Given the description of an element on the screen output the (x, y) to click on. 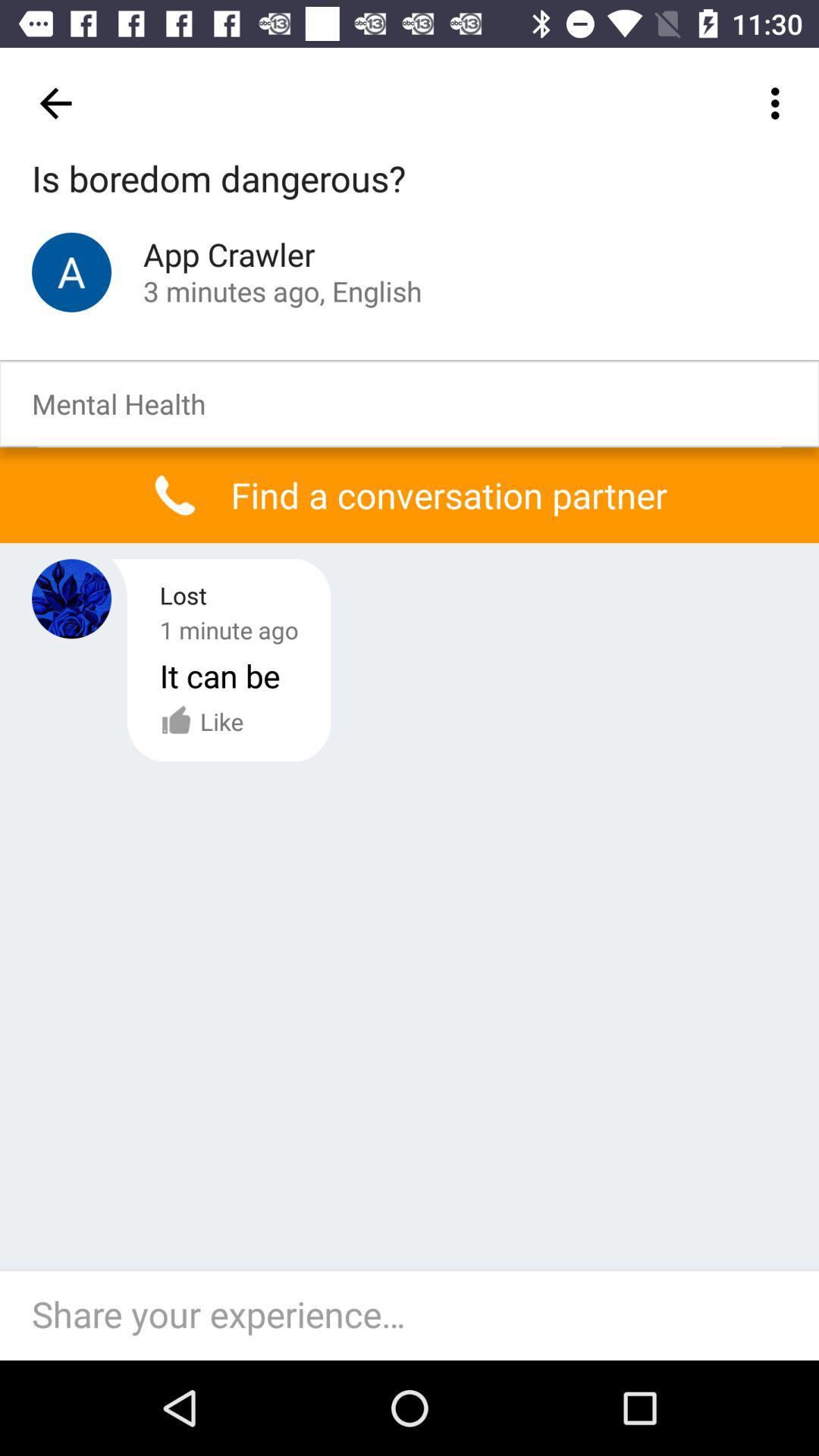
flip to the it can be icon (219, 675)
